Given the description of an element on the screen output the (x, y) to click on. 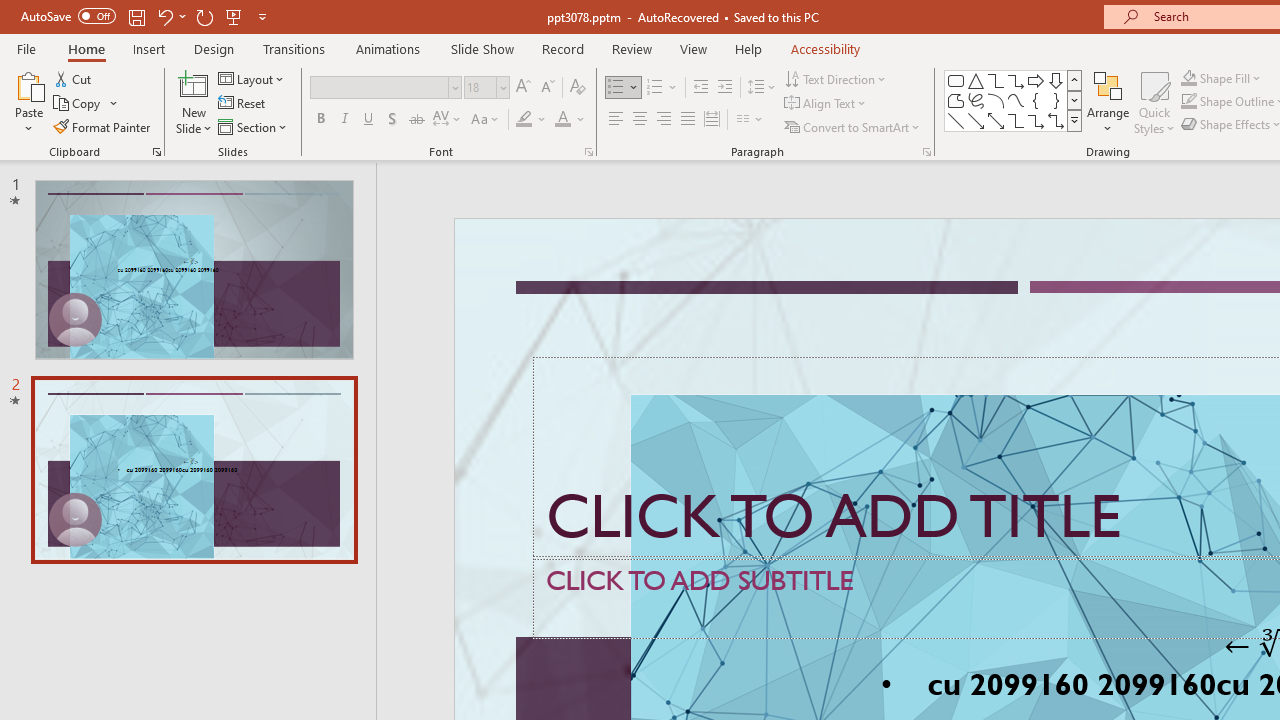
Connector: Elbow (1016, 120)
Strikethrough (416, 119)
Increase Indent (725, 87)
Cut (73, 78)
Rectangle: Rounded Corners (955, 80)
Bullets (616, 87)
Paste (28, 84)
Clear Formatting (577, 87)
Align Text (826, 103)
Isosceles Triangle (975, 80)
Accessibility (825, 48)
Line Arrow: Double (995, 120)
Quick Styles (1154, 102)
Left Brace (1035, 100)
